Given the description of an element on the screen output the (x, y) to click on. 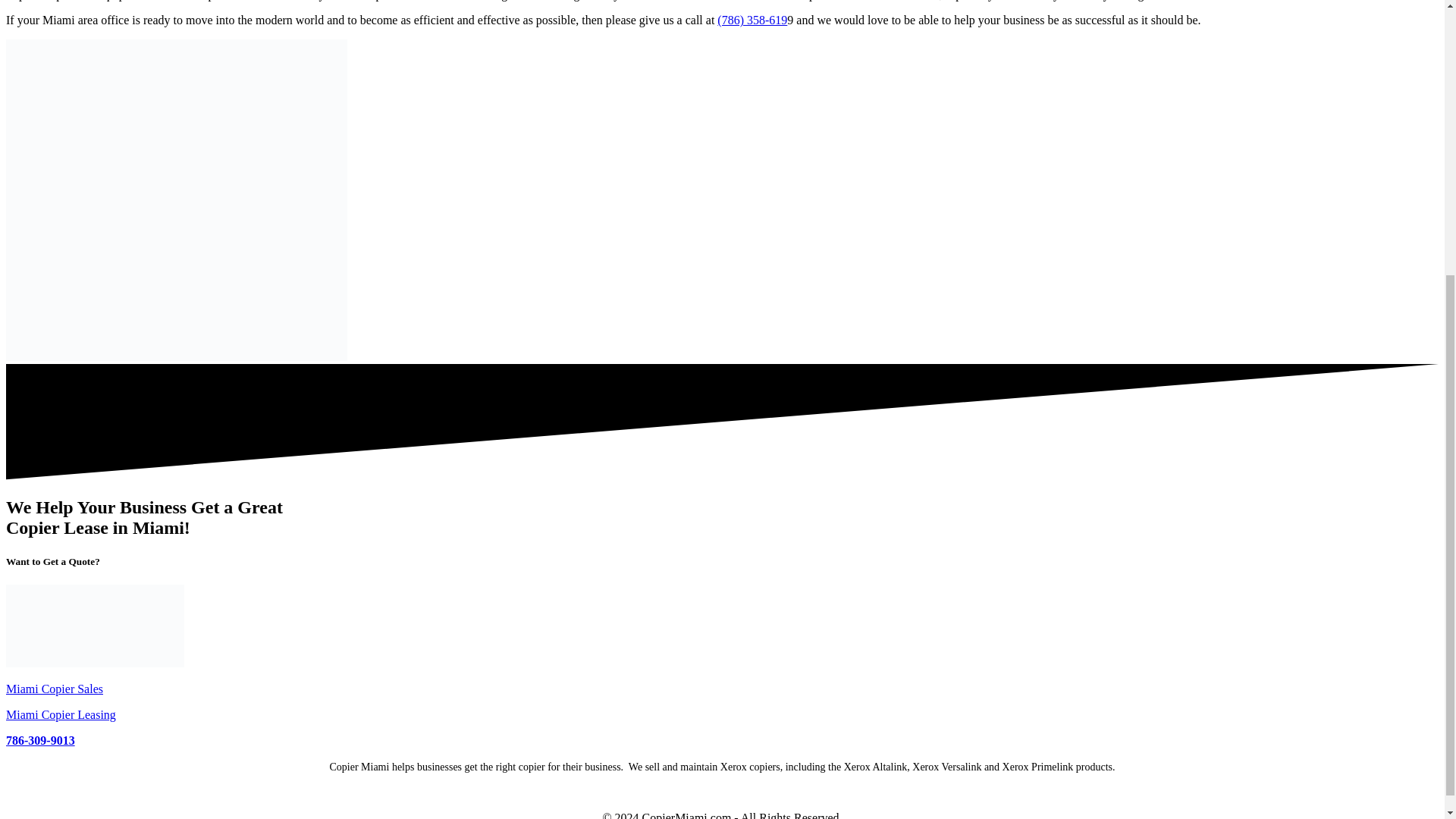
big-Pahoda-C405-Ad-1.19.22 (176, 200)
PahodaLogo2022 (94, 625)
